Given the description of an element on the screen output the (x, y) to click on. 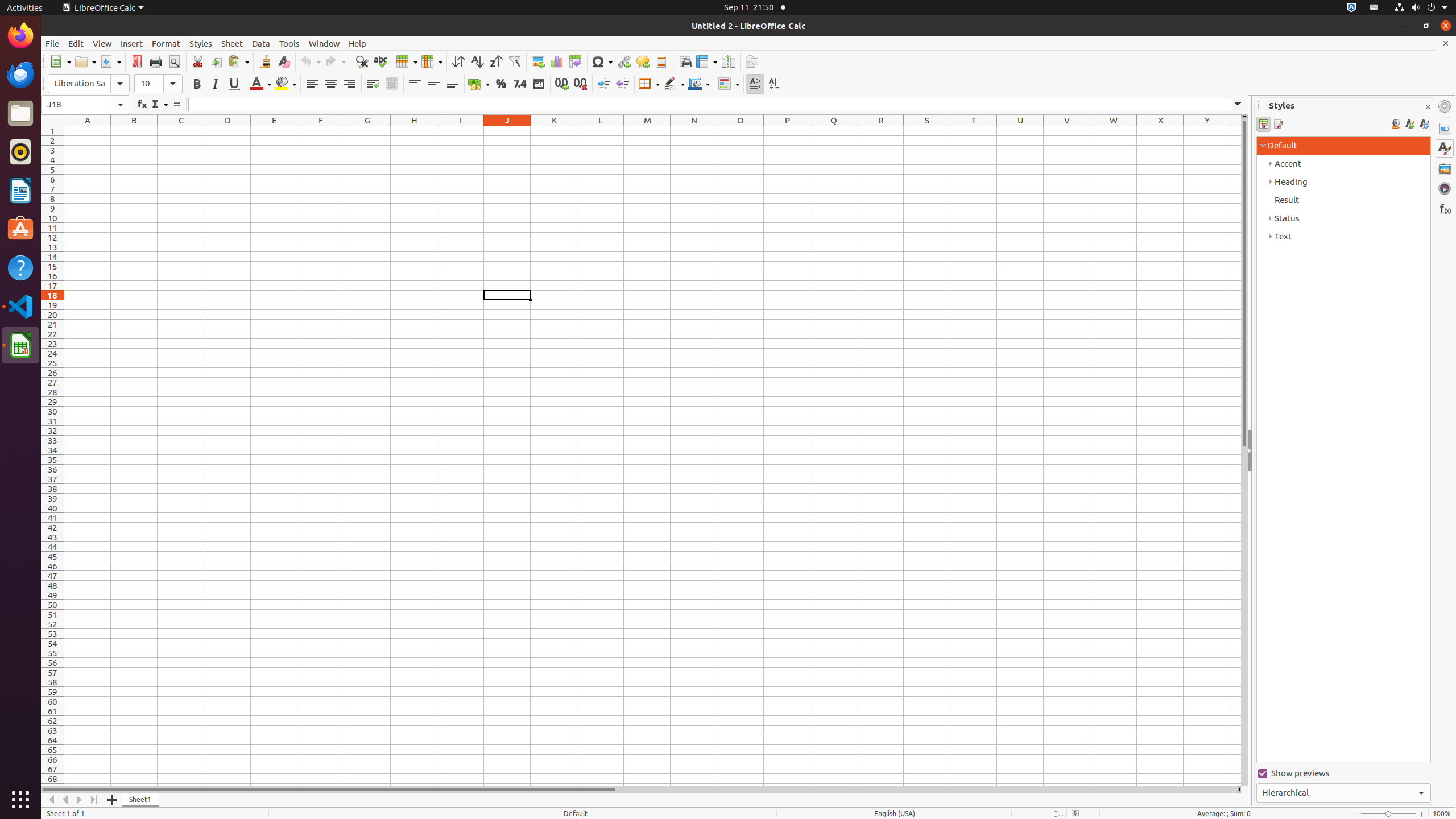
J1 Element type: table-cell (507, 130)
Hyperlink Element type: toggle-button (623, 61)
Trash Element type: label (75, 108)
W1 Element type: table-cell (1113, 130)
Sheet Element type: menu (231, 43)
